Given the description of an element on the screen output the (x, y) to click on. 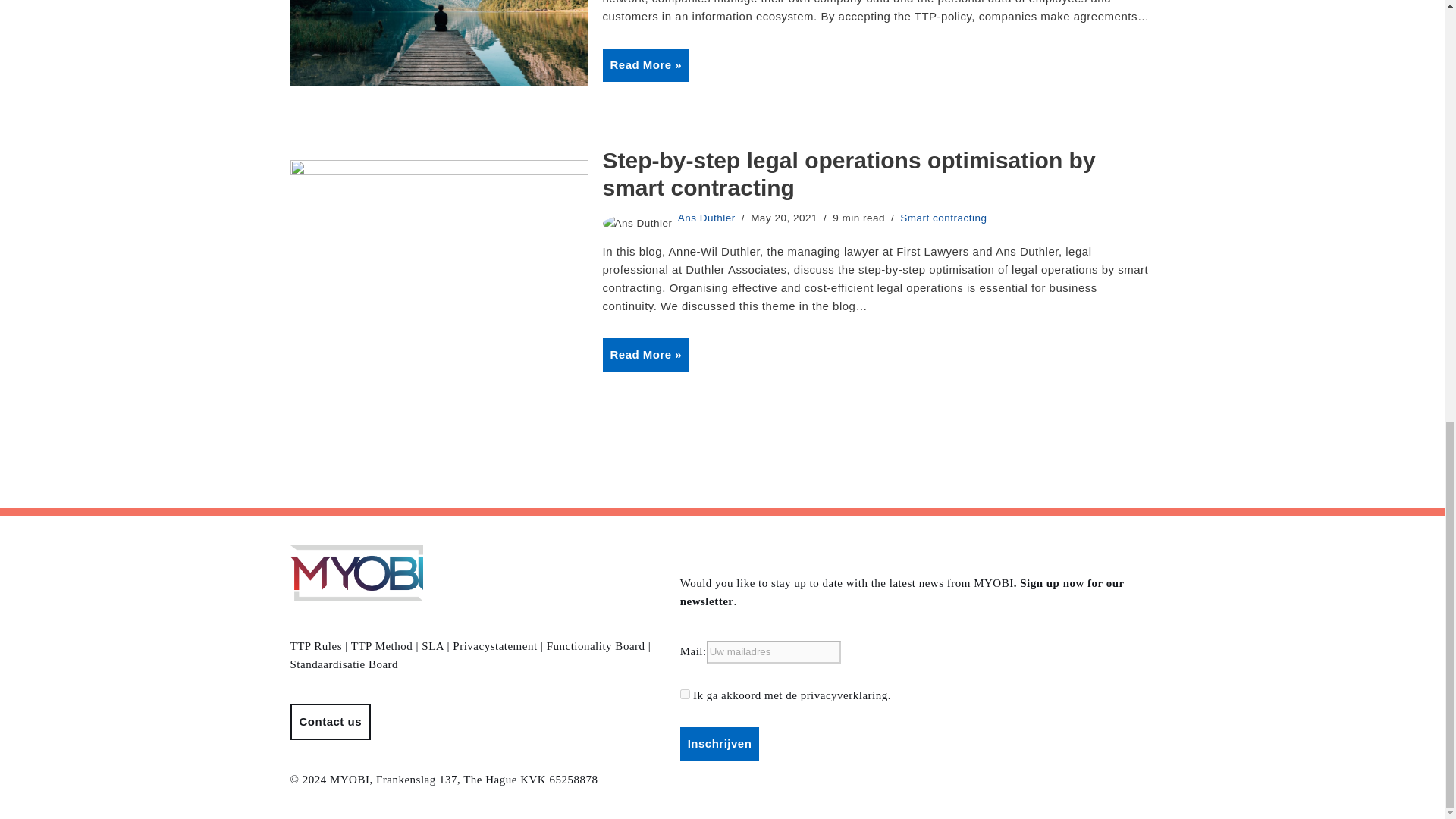
Posts by Ans Duthler (706, 217)
1 (684, 694)
Inschrijven (719, 743)
What is MYOBI? (437, 42)
